Given the description of an element on the screen output the (x, y) to click on. 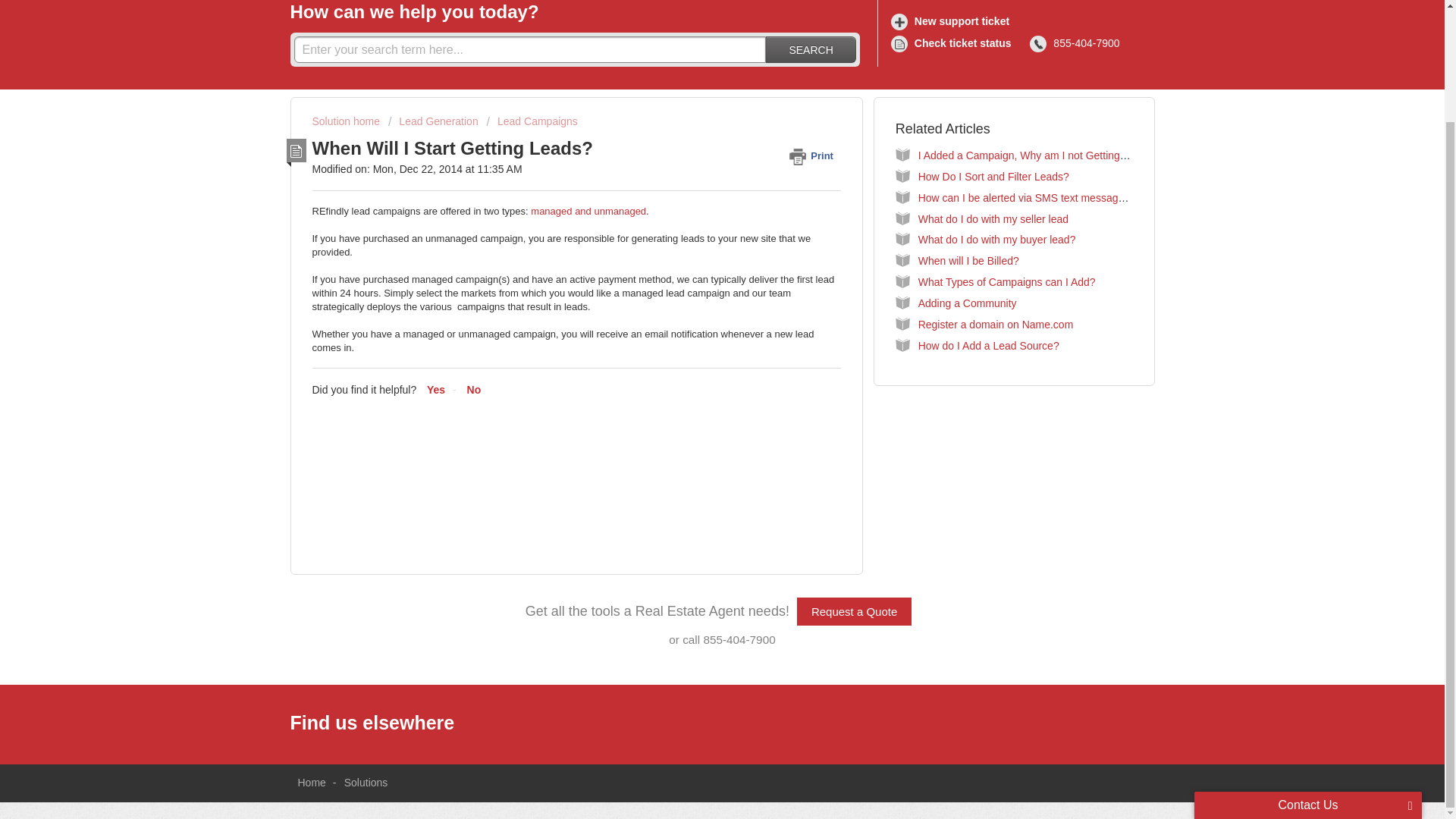
managed and unmanaged (588, 211)
Print (815, 155)
When will I be Billed? (968, 260)
Register a domain on Name.com (996, 324)
Lead Campaigns (532, 121)
Check ticket status (953, 43)
855-404-7900 (1076, 43)
Check ticket status (953, 43)
What Types of Campaigns can I Add? (1007, 282)
Adding a Community (967, 303)
Solution home (347, 121)
How do I Add a Lead Source? (988, 345)
Lead Generation (433, 121)
How Do I Sort and Filter Leads? (993, 176)
What do I do with my seller lead (993, 218)
